Given the description of an element on the screen output the (x, y) to click on. 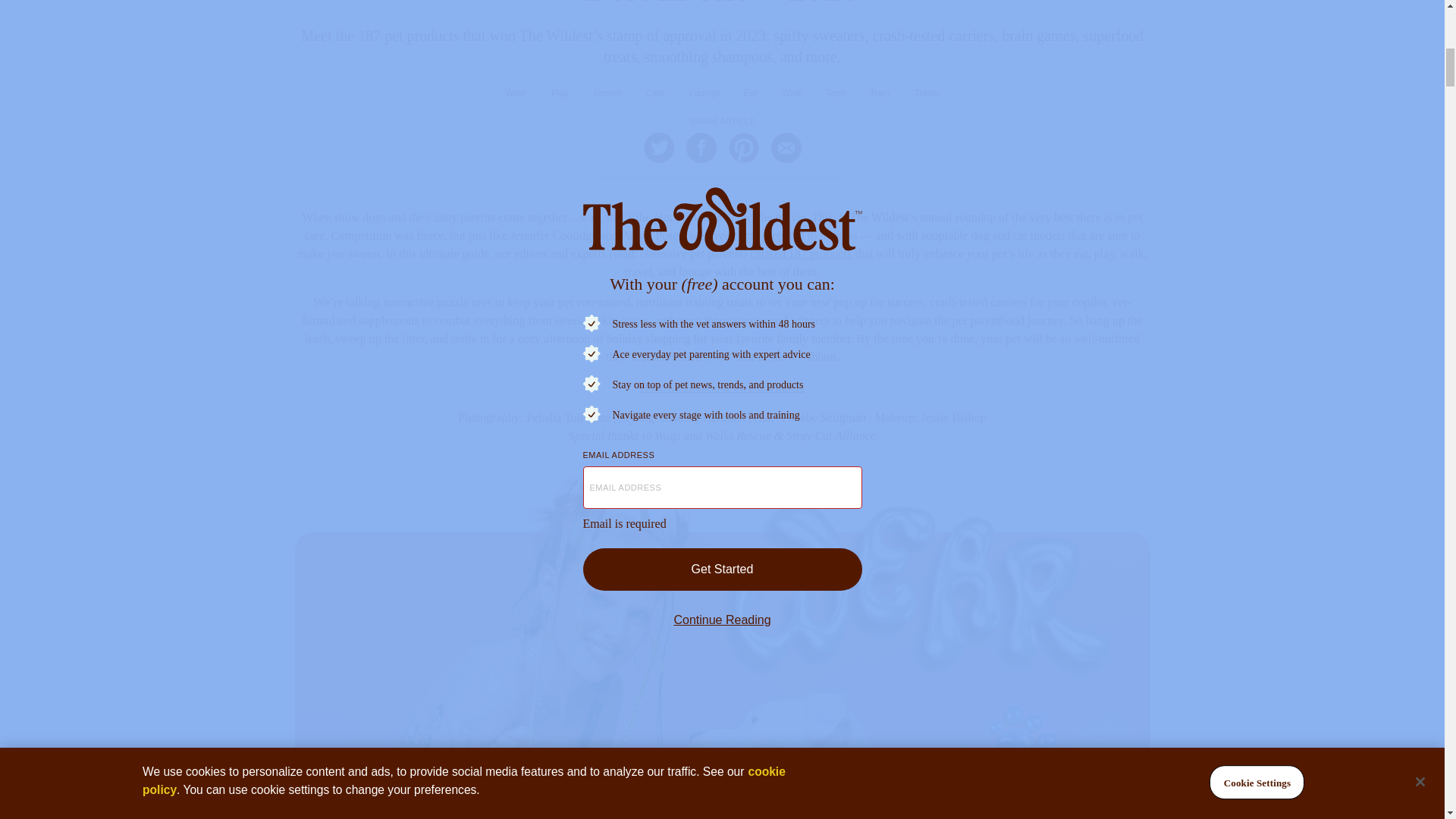
Pinterest (743, 147)
Twitter (657, 147)
Facebook (700, 147)
Email (785, 147)
